Given the description of an element on the screen output the (x, y) to click on. 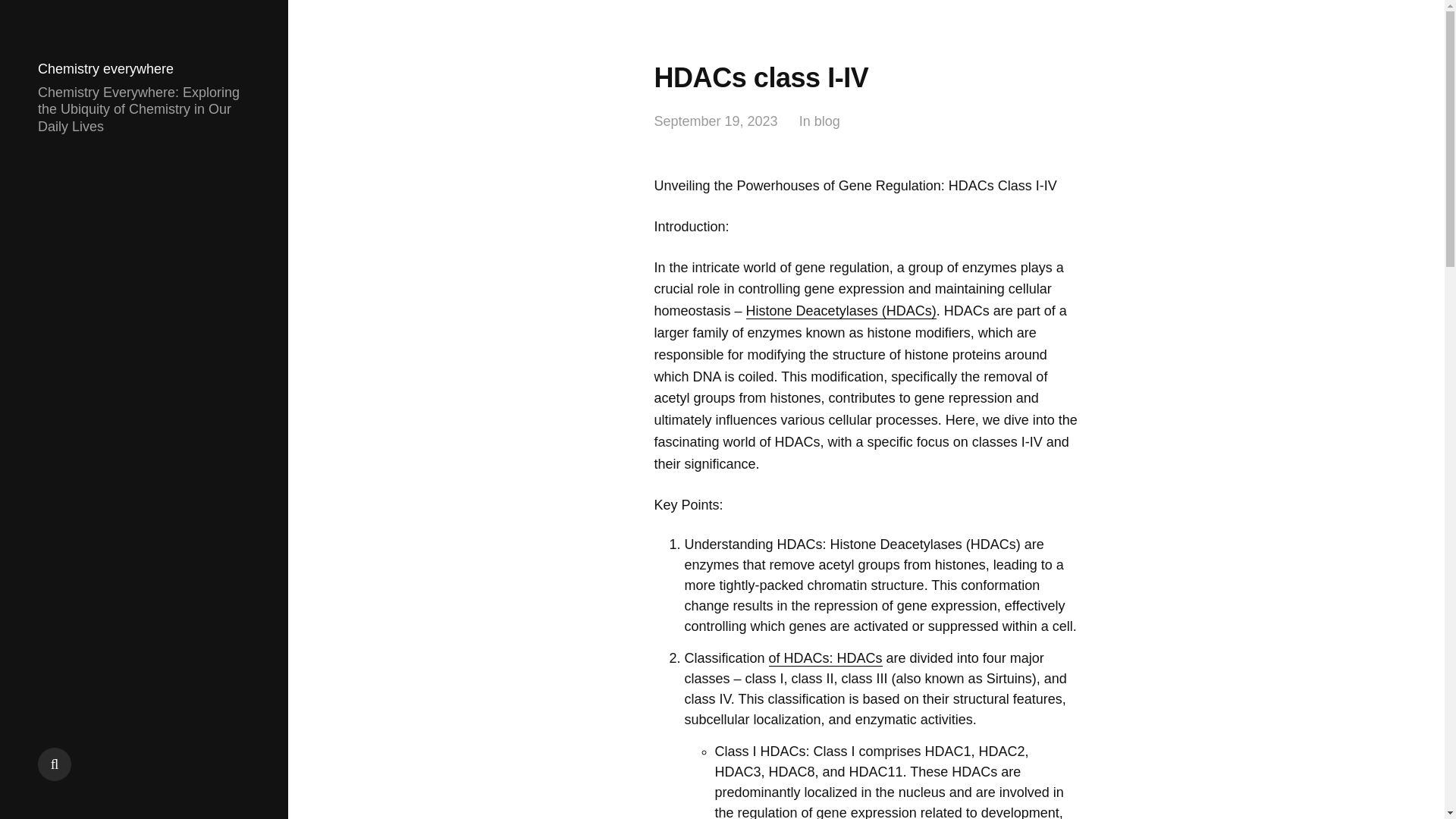
of HDACs: HDACs (825, 658)
September 19, 2023 (715, 121)
blog (826, 121)
Chemistry everywhere (105, 68)
